Given the description of an element on the screen output the (x, y) to click on. 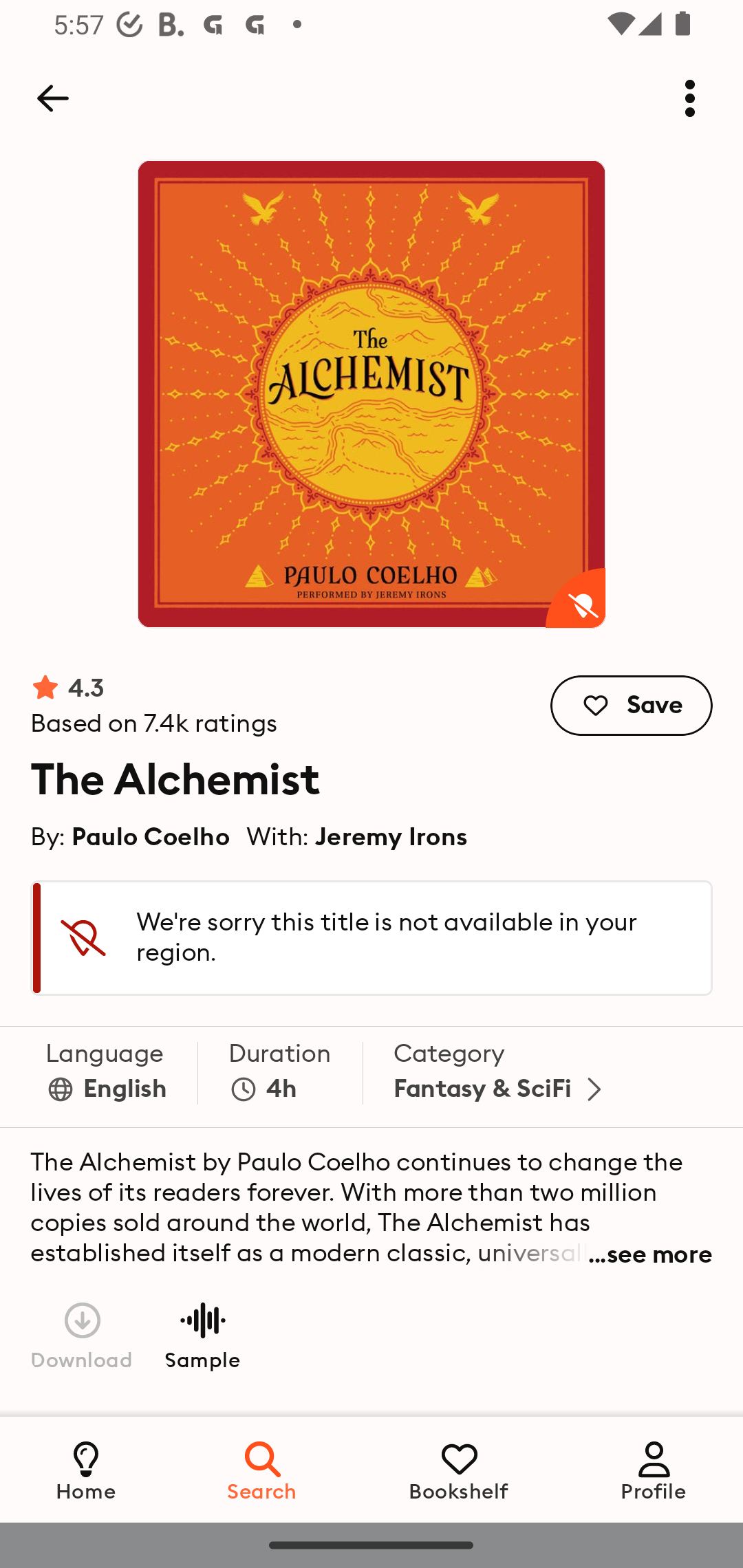
Back (52, 98)
More options (689, 98)
Rating 4.3 stars, out of 7423 ratings (154, 705)
Save Save to bookshelf (631, 705)
By: Paulo Coelho (130, 835)
With: Jeremy Irons (356, 835)
Category Fantasy & SciFi (501, 1077)
Play sample (202, 1333)
Home (85, 1468)
Search (262, 1468)
Bookshelf (458, 1468)
Profile (653, 1468)
